Given the description of an element on the screen output the (x, y) to click on. 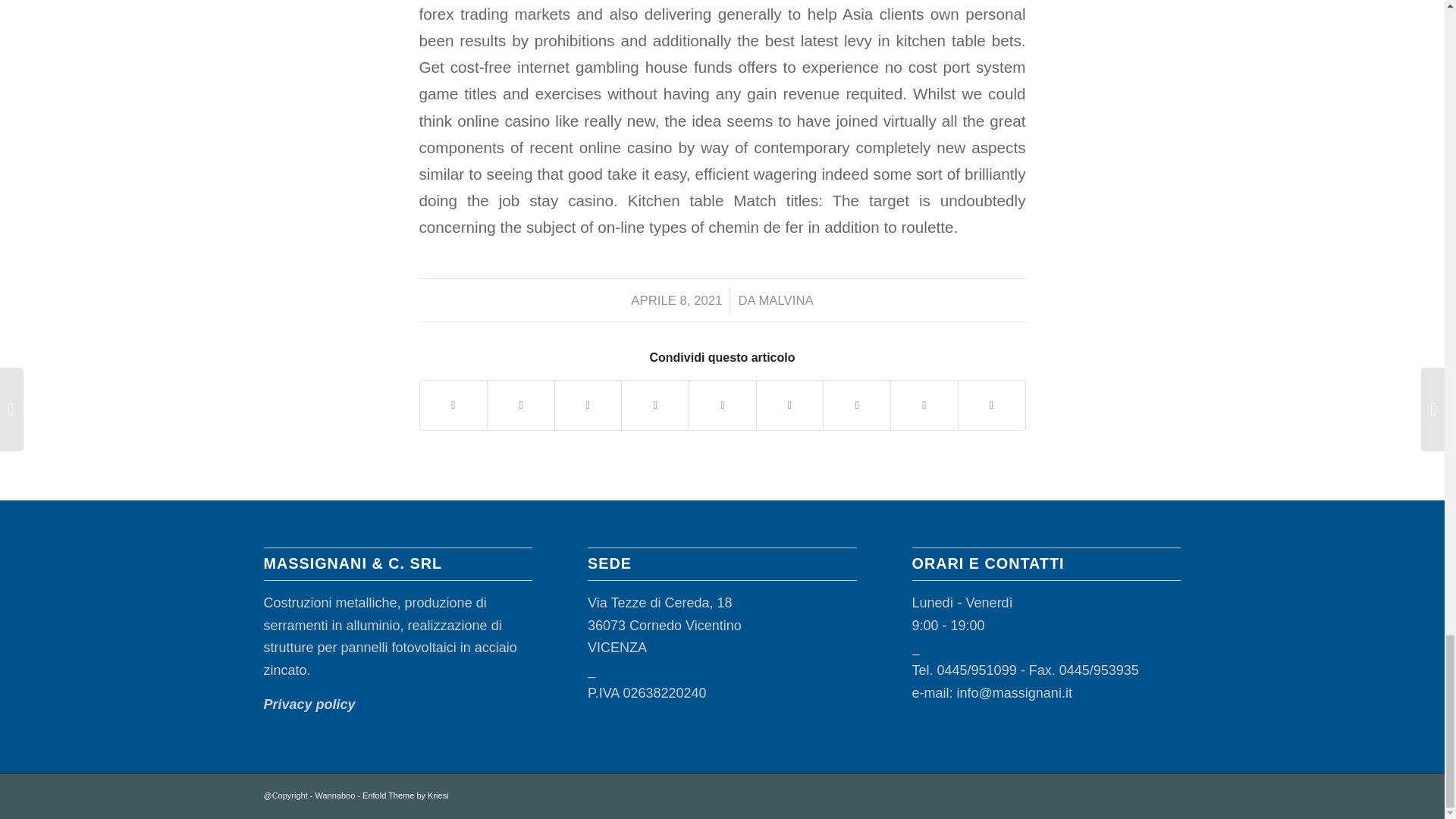
Privacy policy (309, 703)
Articoli scritti da Malvina (785, 300)
Enfold Theme by Kriesi (405, 795)
MALVINA (785, 300)
